Given the description of an element on the screen output the (x, y) to click on. 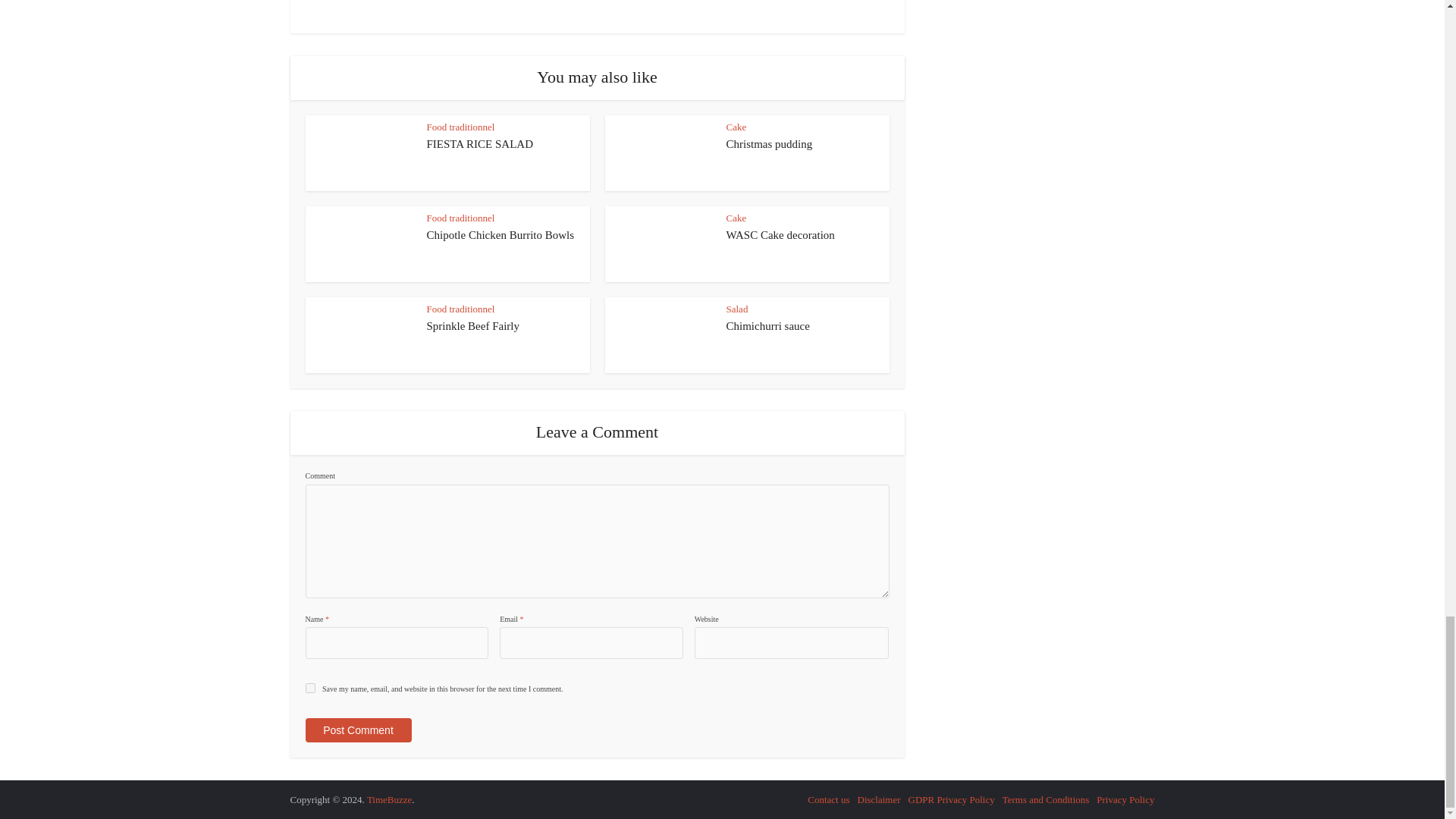
yes (309, 687)
FIESTA RICE SALAD (479, 143)
Chipotle Chicken Burrito Bowls (499, 234)
WASC Cake decoration (780, 234)
Christmas pudding (769, 143)
Christmas pudding (769, 143)
Cake (736, 126)
Chimichurri sauce (767, 326)
Food traditionnel (460, 126)
Post Comment (357, 730)
Sprinkle Beef Fairly (472, 326)
FIESTA RICE SALAD (479, 143)
